Given the description of an element on the screen output the (x, y) to click on. 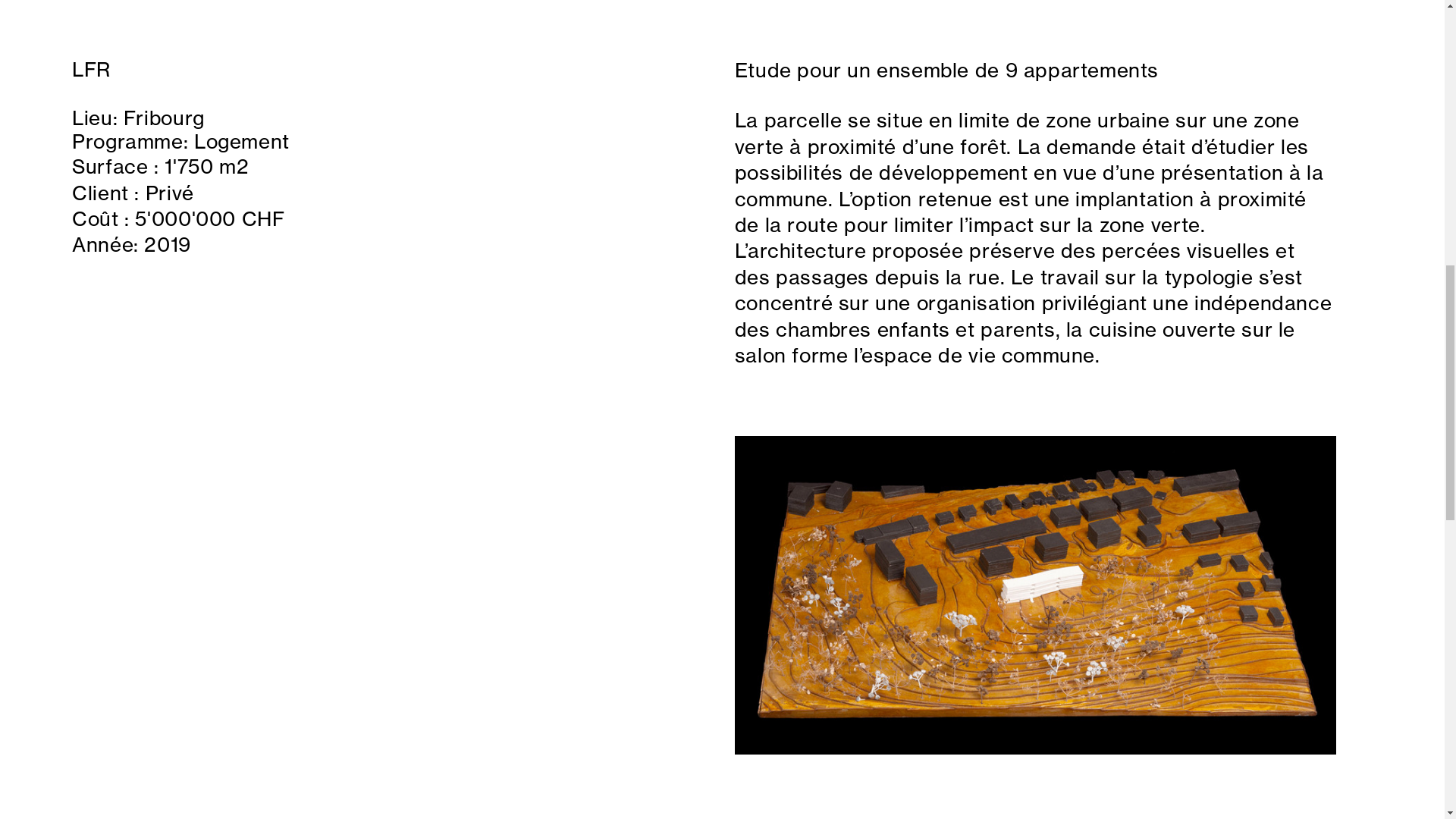
A PROPOS Element type: text (722, 51)
NEWS Element type: text (40, 404)
PROJETS Element type: text (1404, 404)
CONTACT Element type: text (722, 767)
